Given the description of an element on the screen output the (x, y) to click on. 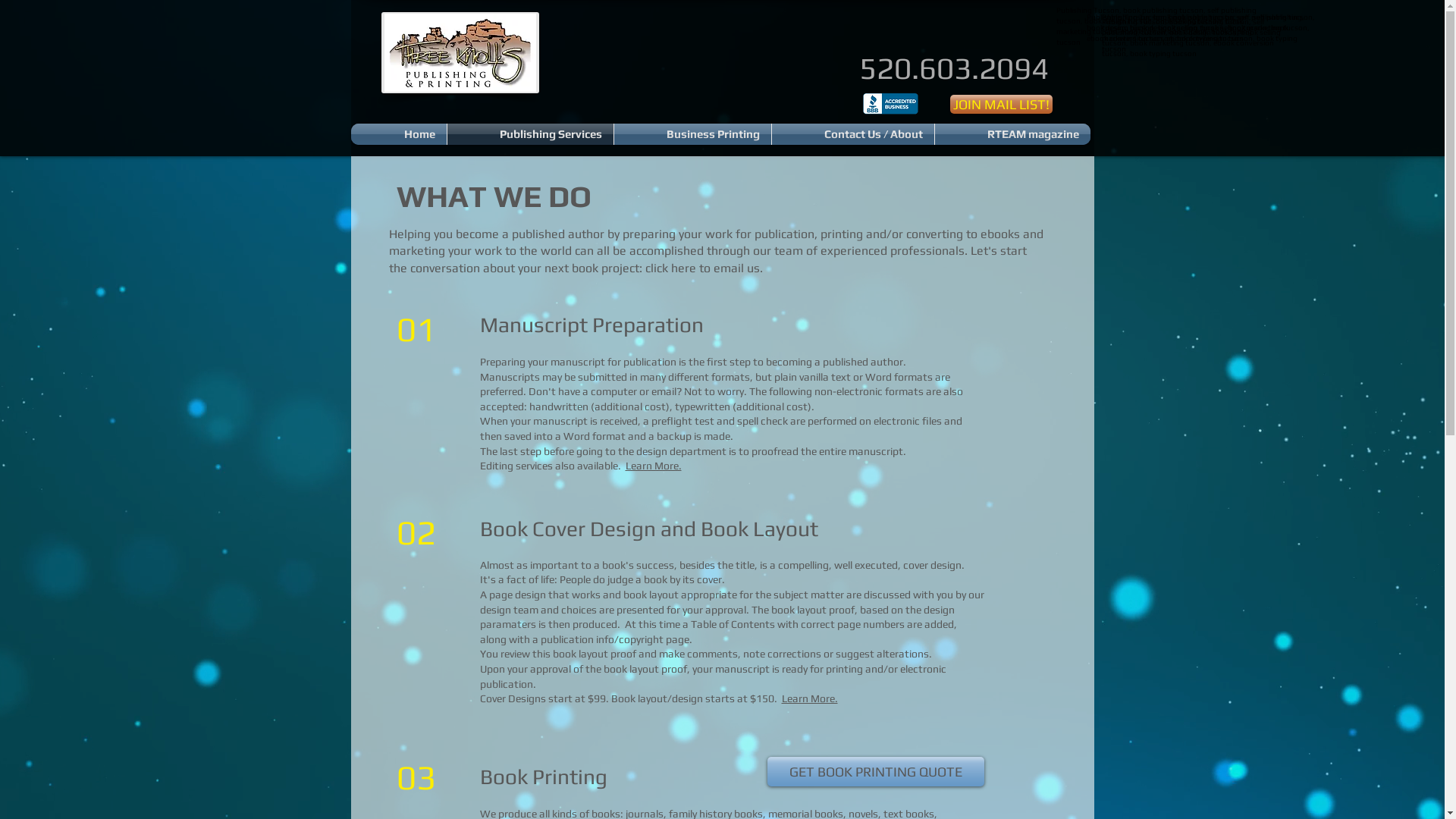
Home Element type: text (397, 133)
GET BOOK PRINTING QUOTE Element type: text (875, 771)
click here to email us. Element type: text (703, 267)
Contact Us / About Element type: text (852, 133)
RTEAM magazine Element type: text (1011, 133)
Publishing Services Element type: text (530, 133)
Business Printing Element type: text (692, 133)
JOIN MAIL LIST! Element type: text (1000, 103)
3kp gold name logo.jpg Element type: hover (459, 52)
Learn More. Element type: text (652, 465)
Learn More. Element type: text (809, 698)
